Given the description of an element on the screen output the (x, y) to click on. 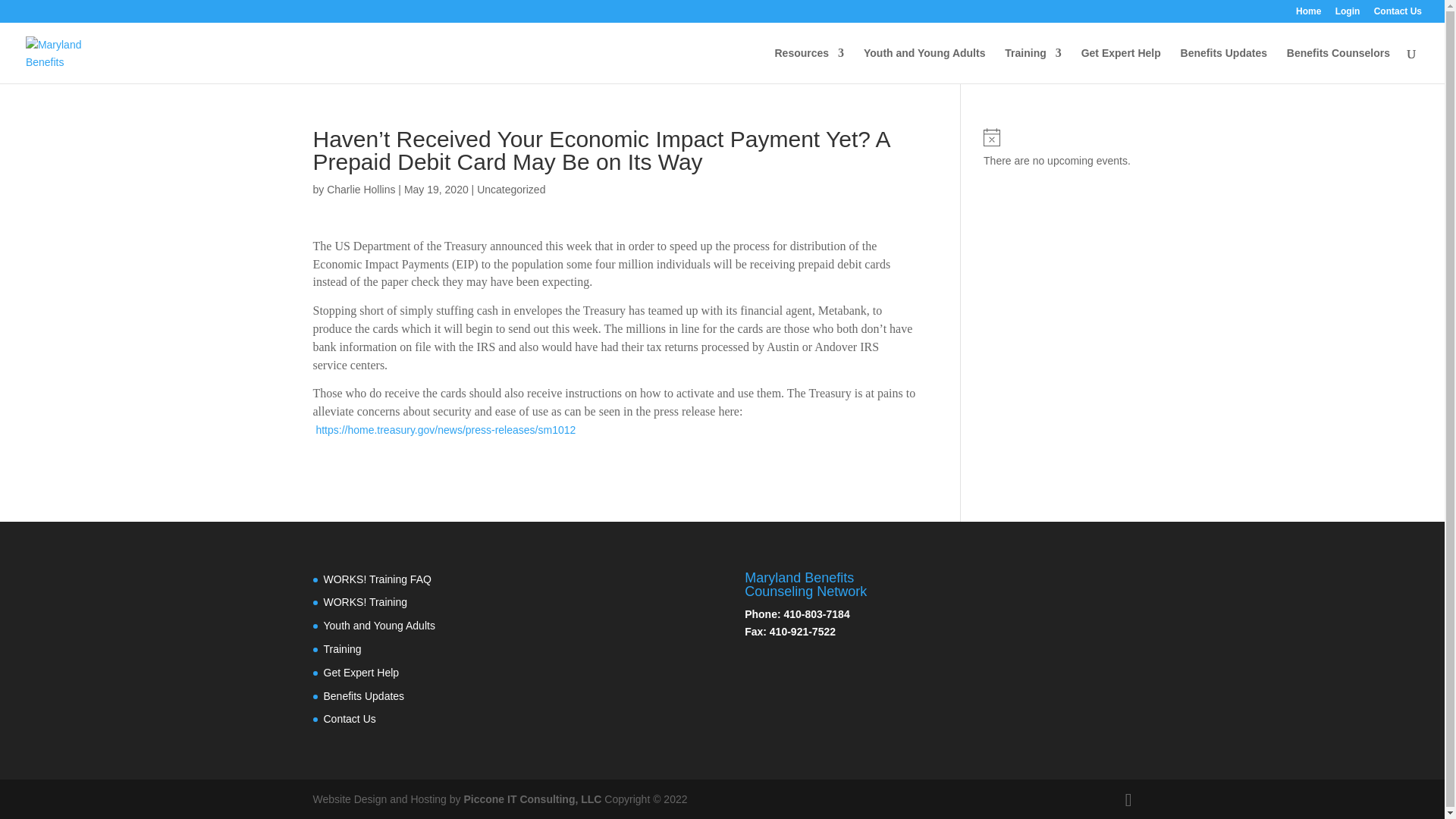
Training (1032, 65)
WORKS! Training FAQ (376, 579)
Login (1347, 14)
Benefits Updates (1223, 65)
Benefits Counselors (1338, 65)
Youth and Young Adults (378, 625)
Contact Us (1398, 14)
Posts by Charlie Hollins (360, 189)
Resources (809, 65)
Benefits Updates (363, 695)
WORKS! Training (364, 602)
Charlie Hollins (360, 189)
Piccone IT Consulting, LLC (533, 799)
Uncategorized (510, 189)
Contact Us (349, 718)
